Given the description of an element on the screen output the (x, y) to click on. 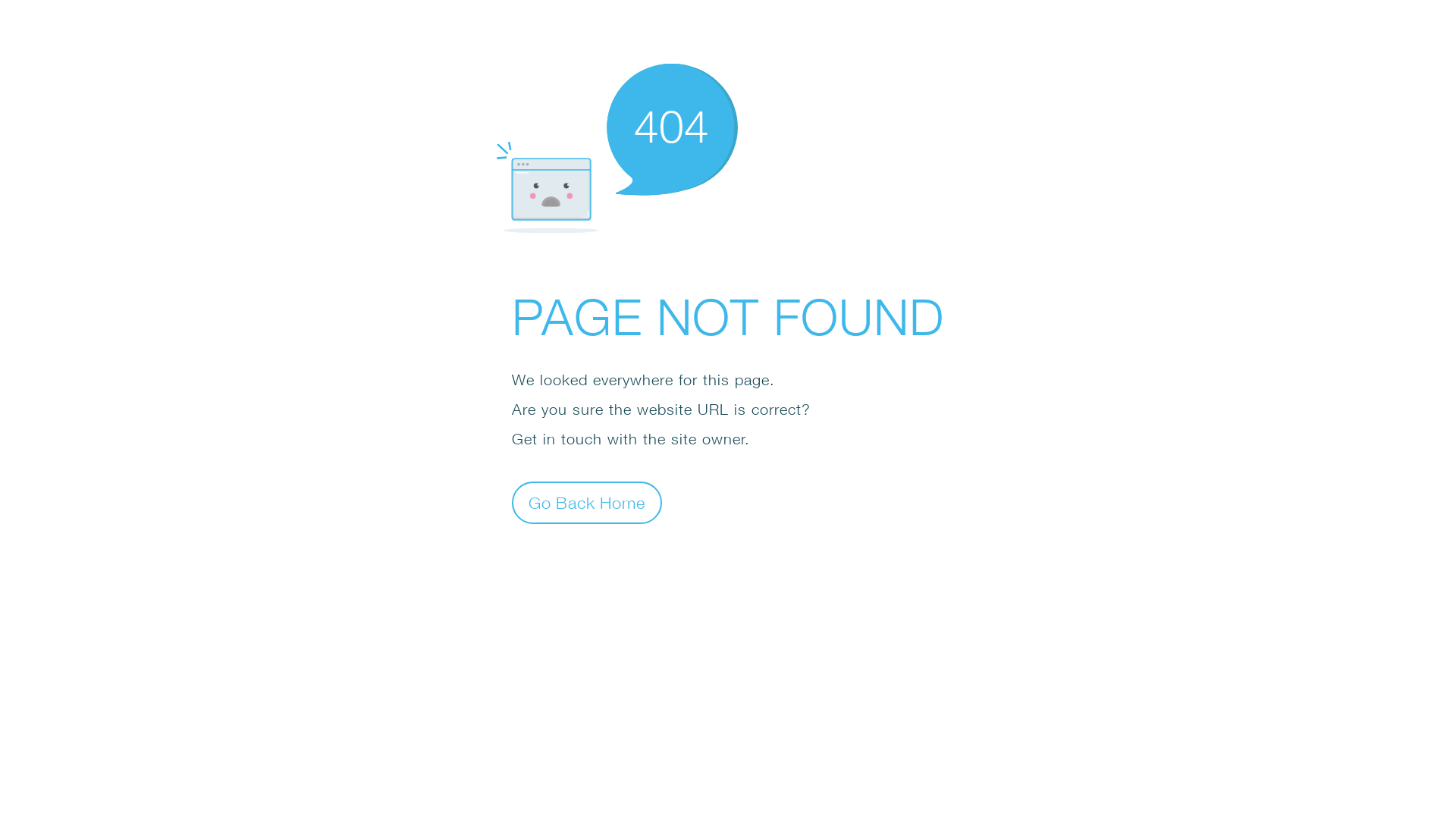
Go Back Home Element type: text (586, 502)
